Given the description of an element on the screen output the (x, y) to click on. 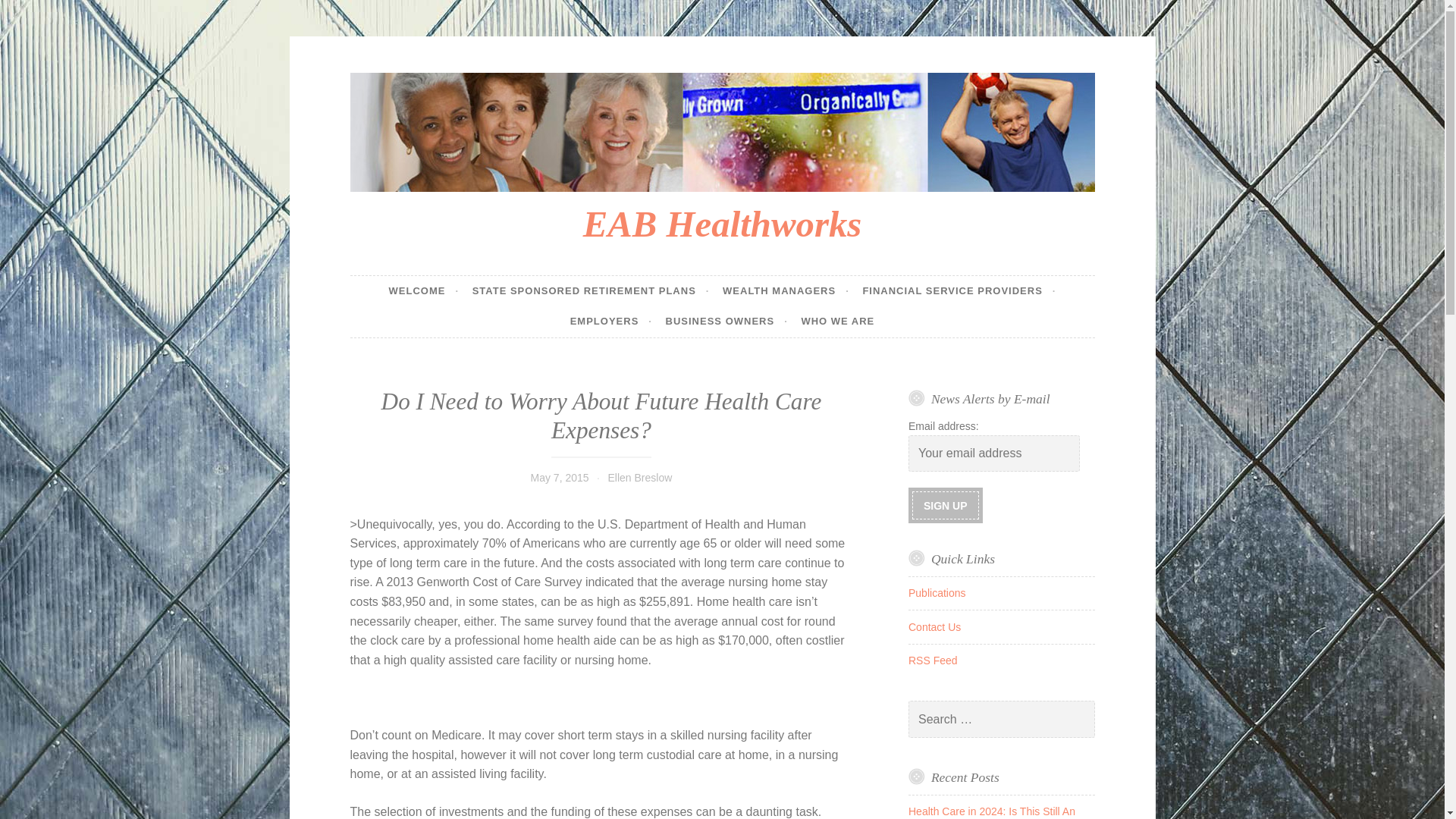
May 7, 2015 (560, 477)
FINANCIAL SERVICE PROVIDERS (958, 291)
Health Care in 2024: Is This Still An Issue? (991, 812)
Contact Us (934, 626)
Sign up (945, 505)
EMPLOYERS (611, 322)
Sign up (945, 505)
WEALTH MANAGERS (785, 291)
RSS Feed (933, 660)
Search (33, 13)
EAB Healthworks (722, 223)
STATE SPONSORED RETIREMENT PLANS (590, 291)
BUSINESS OWNERS (726, 322)
Ellen Breslow (639, 477)
